Given the description of an element on the screen output the (x, y) to click on. 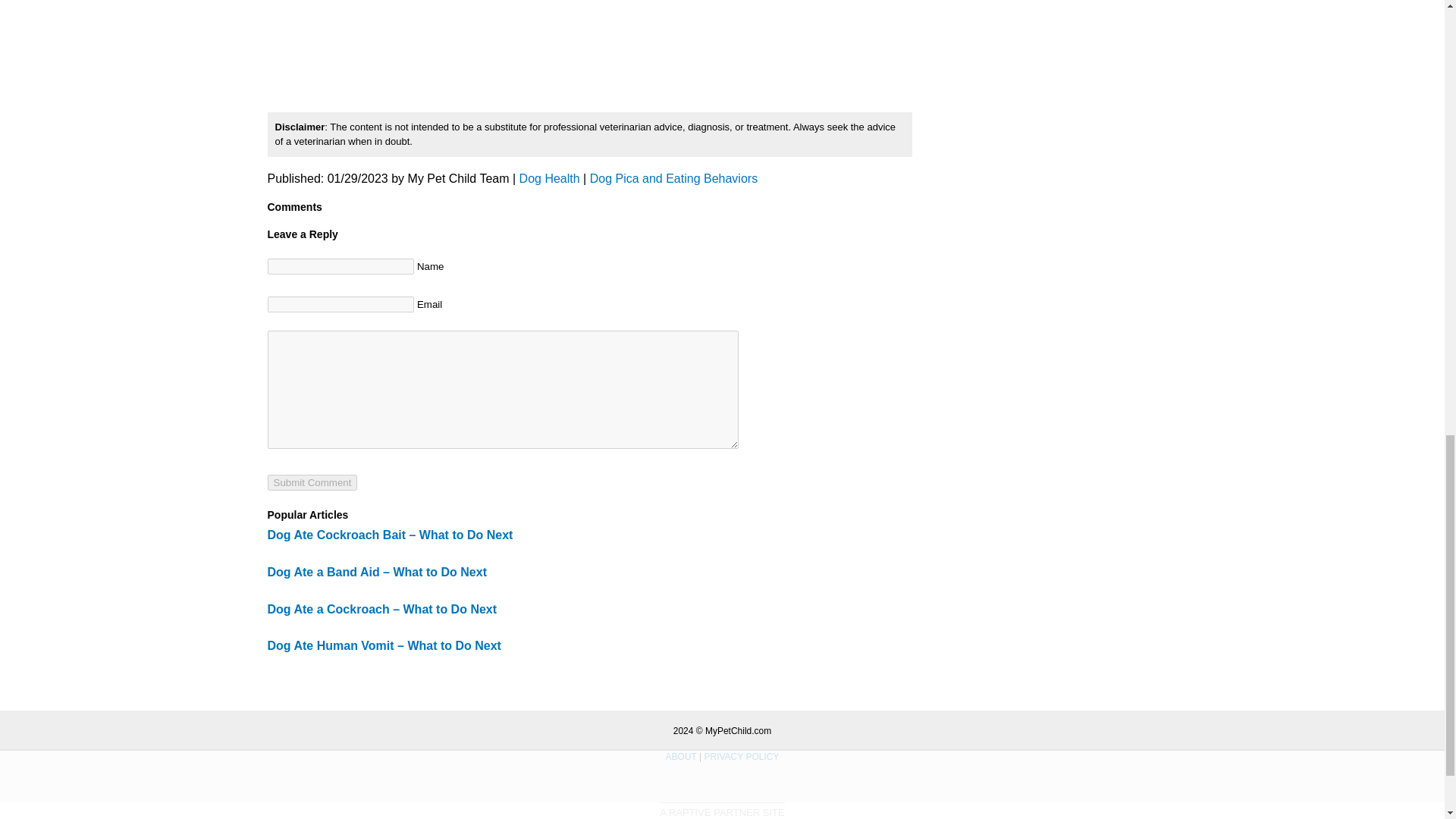
Dog Health (549, 178)
PRIVACY POLICY (740, 756)
Submit Comment (311, 482)
Dog Pica and Eating Behaviors (673, 178)
Submit Comment (311, 482)
ABOUT (681, 756)
